Given the description of an element on the screen output the (x, y) to click on. 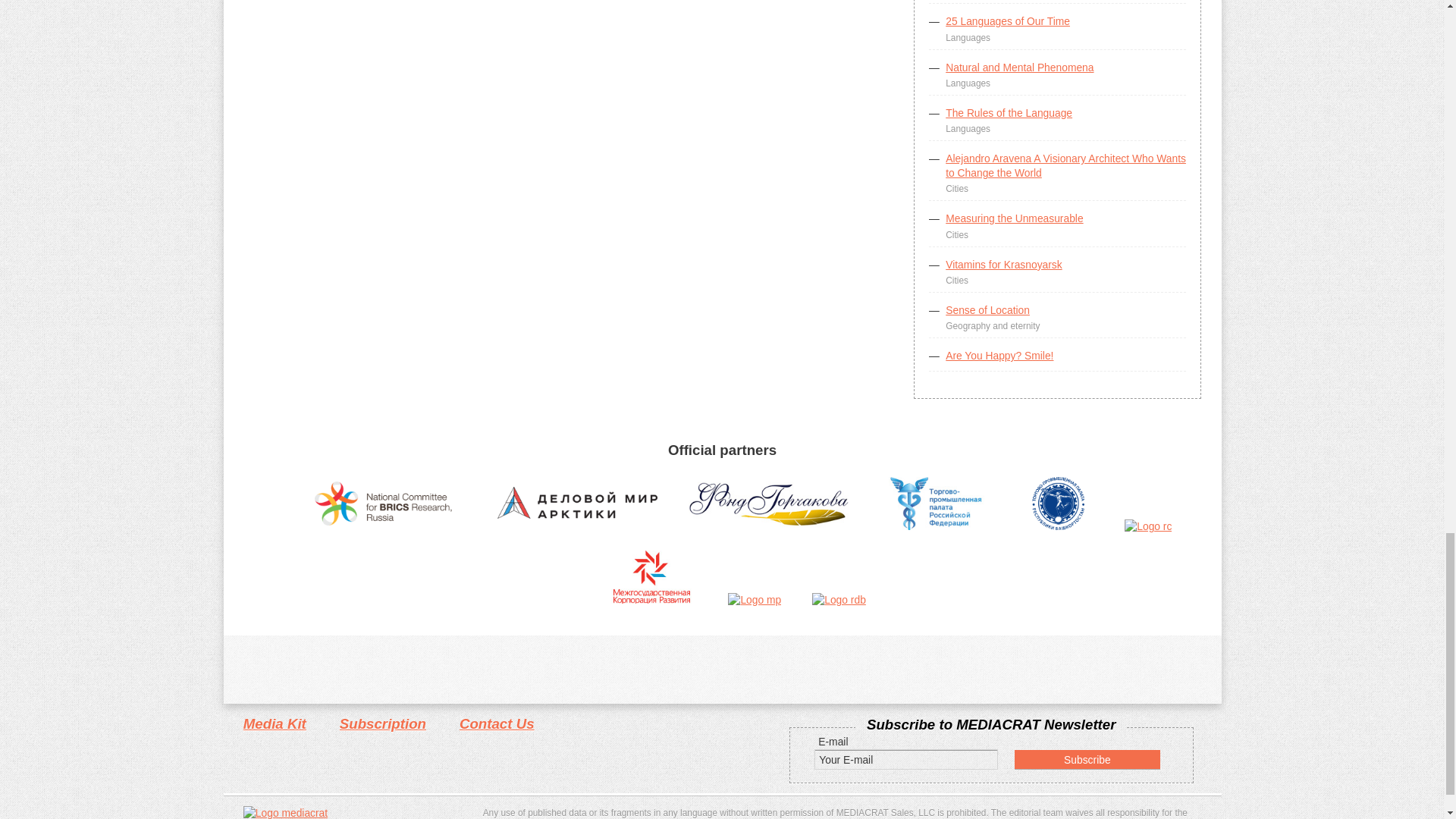
Your E-mail (905, 759)
Subscribe (1086, 759)
Your E-mail (905, 759)
